Given the description of an element on the screen output the (x, y) to click on. 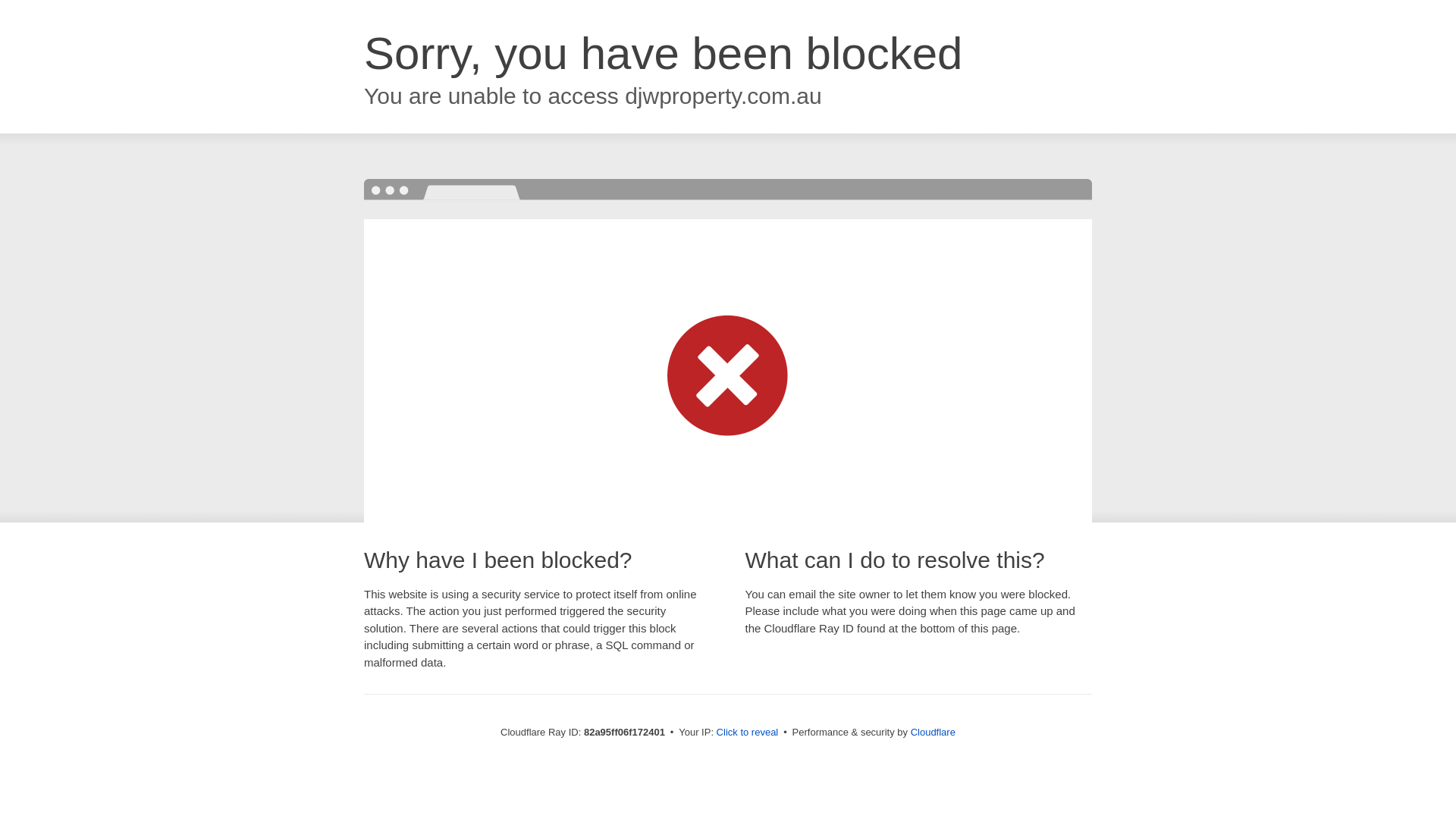
Click to reveal Element type: text (747, 732)
Cloudflare Element type: text (932, 731)
